Given the description of an element on the screen output the (x, y) to click on. 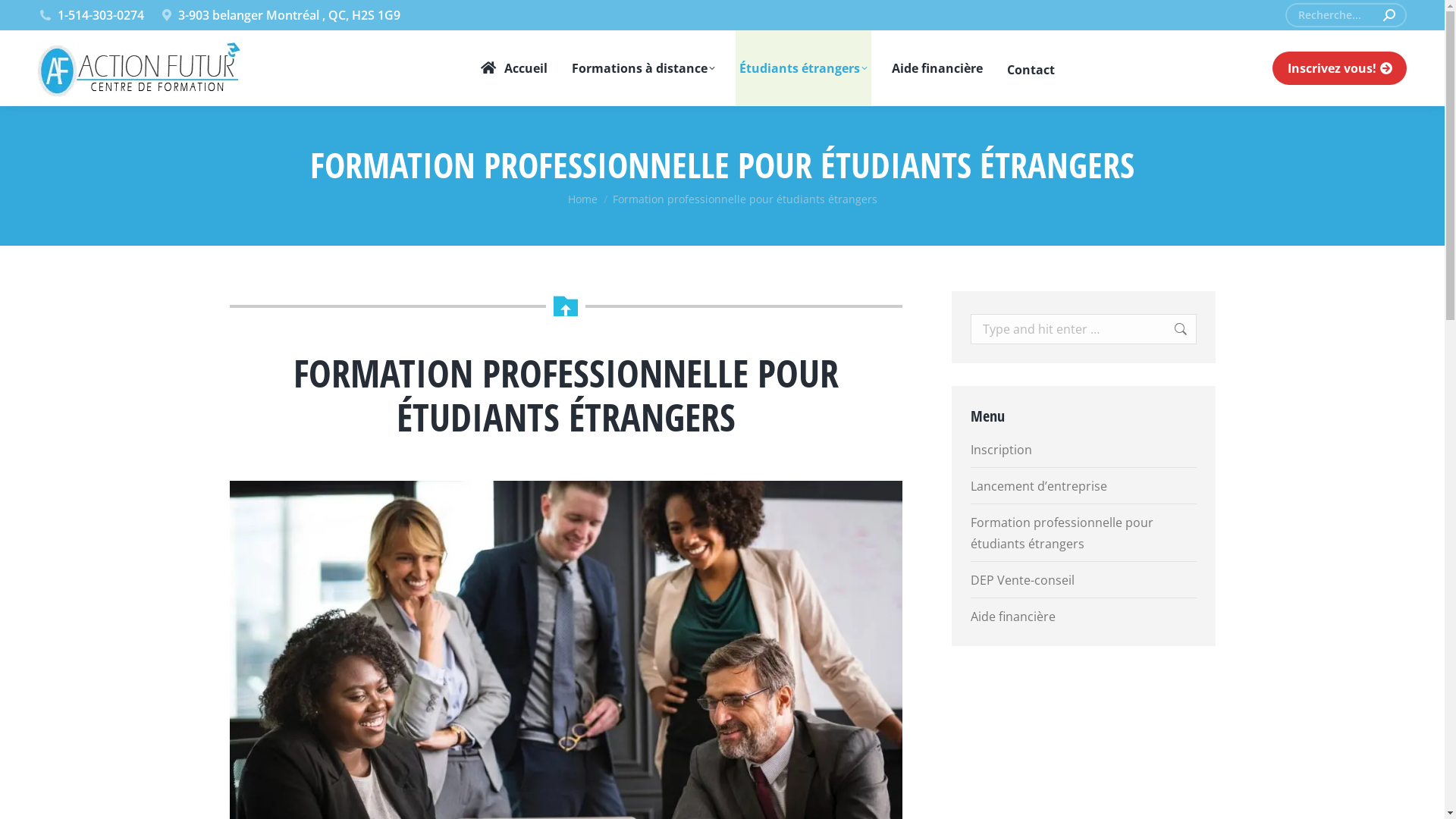
DEP Vente-conseil Element type: text (1022, 579)
Home Element type: text (581, 198)
Search form Element type: hover (1345, 15)
Go! Element type: text (31, 18)
Accueil Element type: text (513, 68)
Contact Element type: text (1030, 68)
Inscription Element type: text (1001, 449)
Go! Element type: text (1164, 328)
Inscrivez vous! Element type: text (1339, 67)
